Given the description of an element on the screen output the (x, y) to click on. 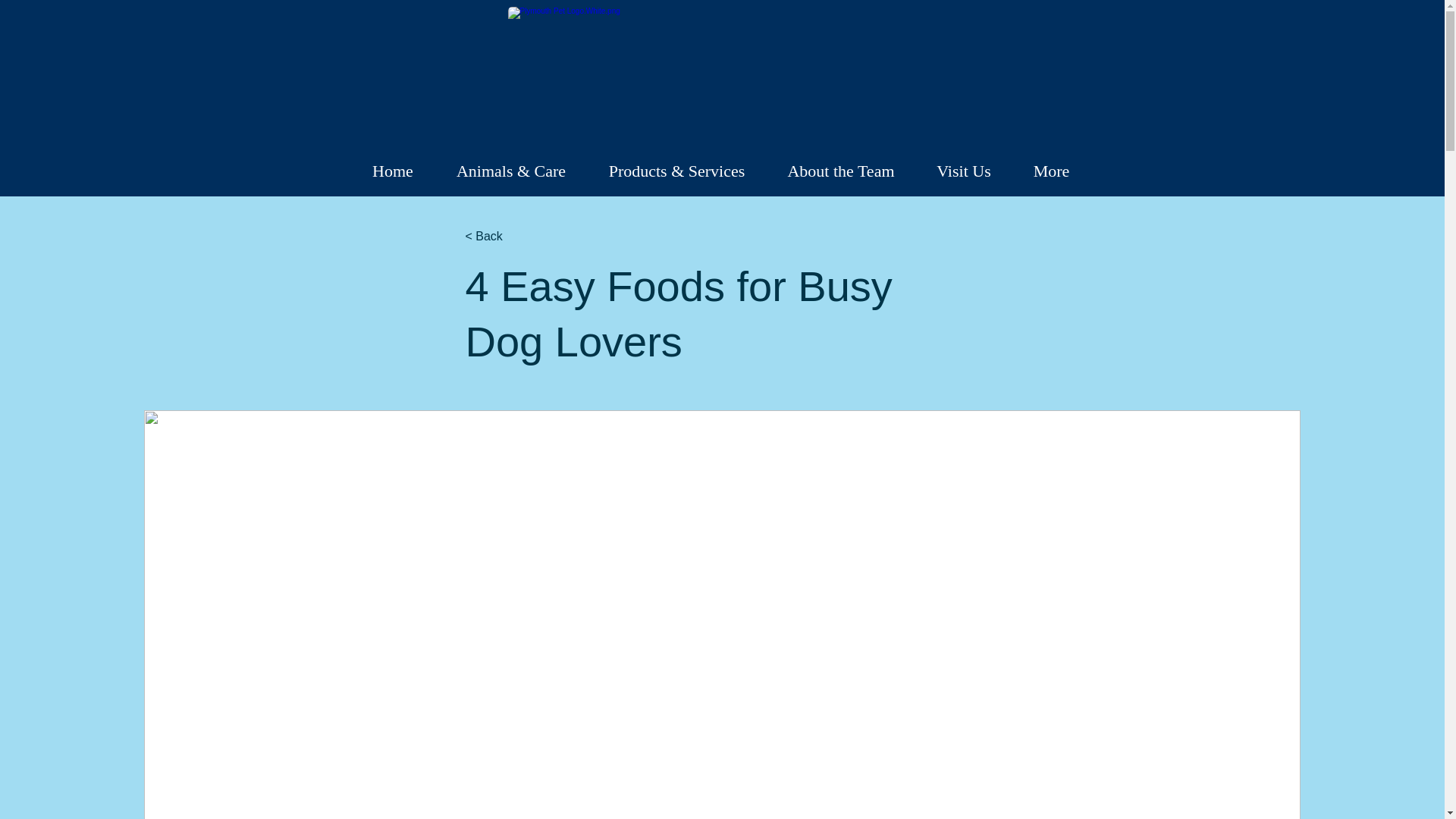
Visit Us (963, 170)
Home (391, 170)
About the Team (840, 170)
